Given the description of an element on the screen output the (x, y) to click on. 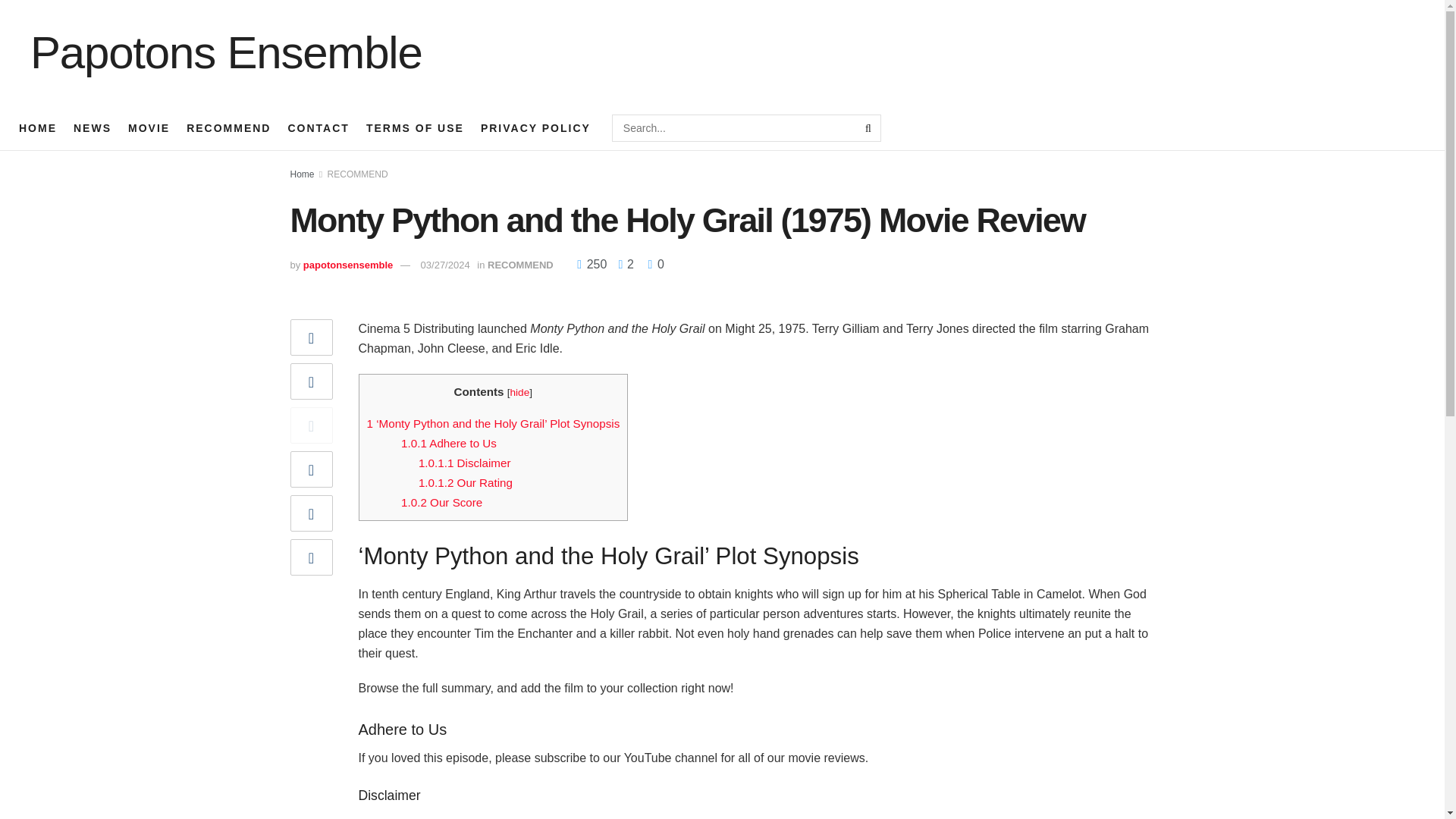
250 (593, 264)
papotonsensemble (347, 265)
MOVIE (149, 127)
Home (301, 173)
RECOMMEND (520, 265)
RECOMMEND (357, 173)
RECOMMEND (228, 127)
Papotons Ensemble (220, 53)
2 (621, 264)
TERMS OF USE (415, 127)
PRIVACY POLICY (535, 127)
CONTACT (317, 127)
0 (655, 264)
